Given the description of an element on the screen output the (x, y) to click on. 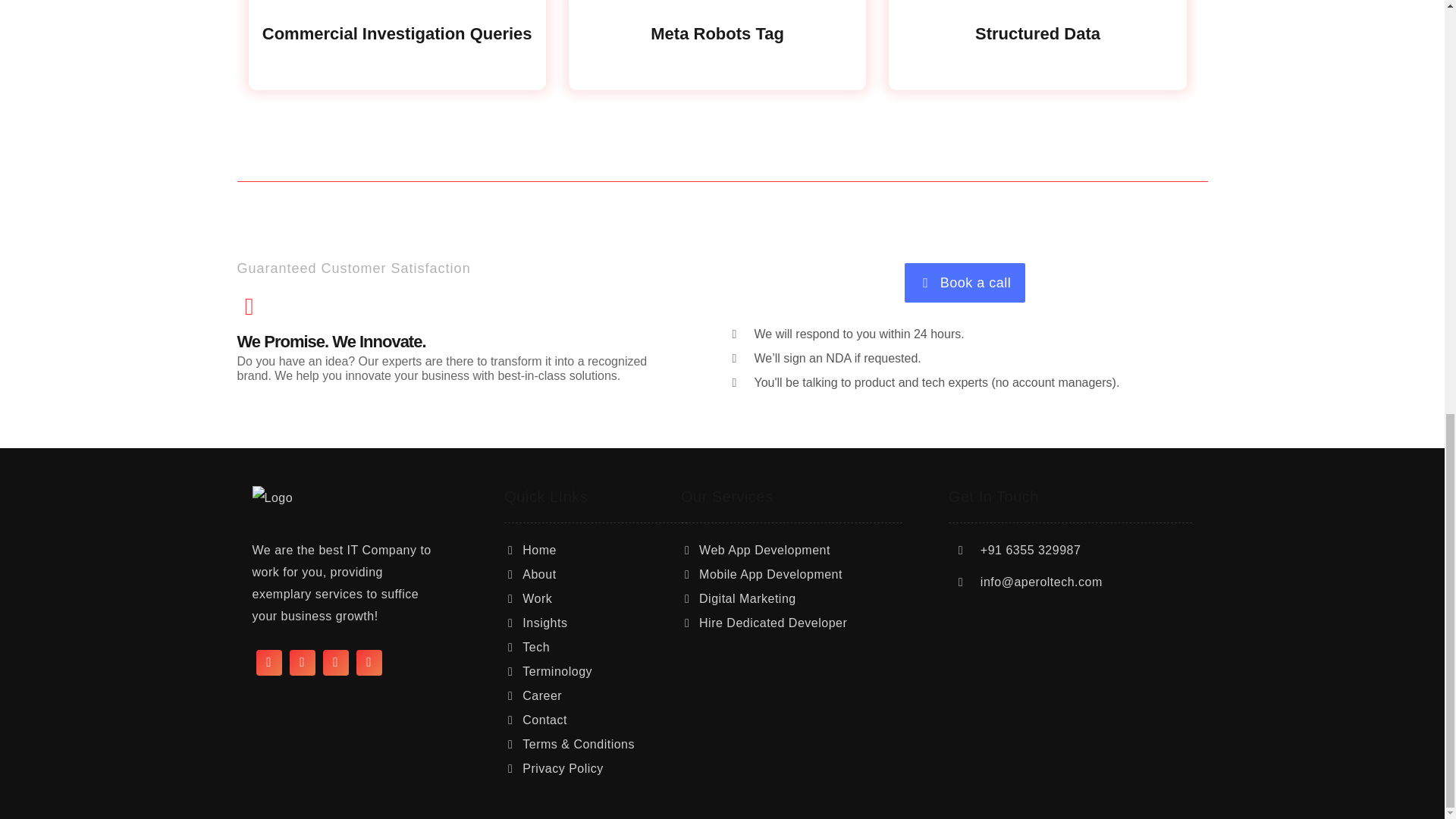
Structured Data (1037, 52)
Meta Robots Tag (717, 52)
Commercial Investigation Queries (397, 52)
